Given the description of an element on the screen output the (x, y) to click on. 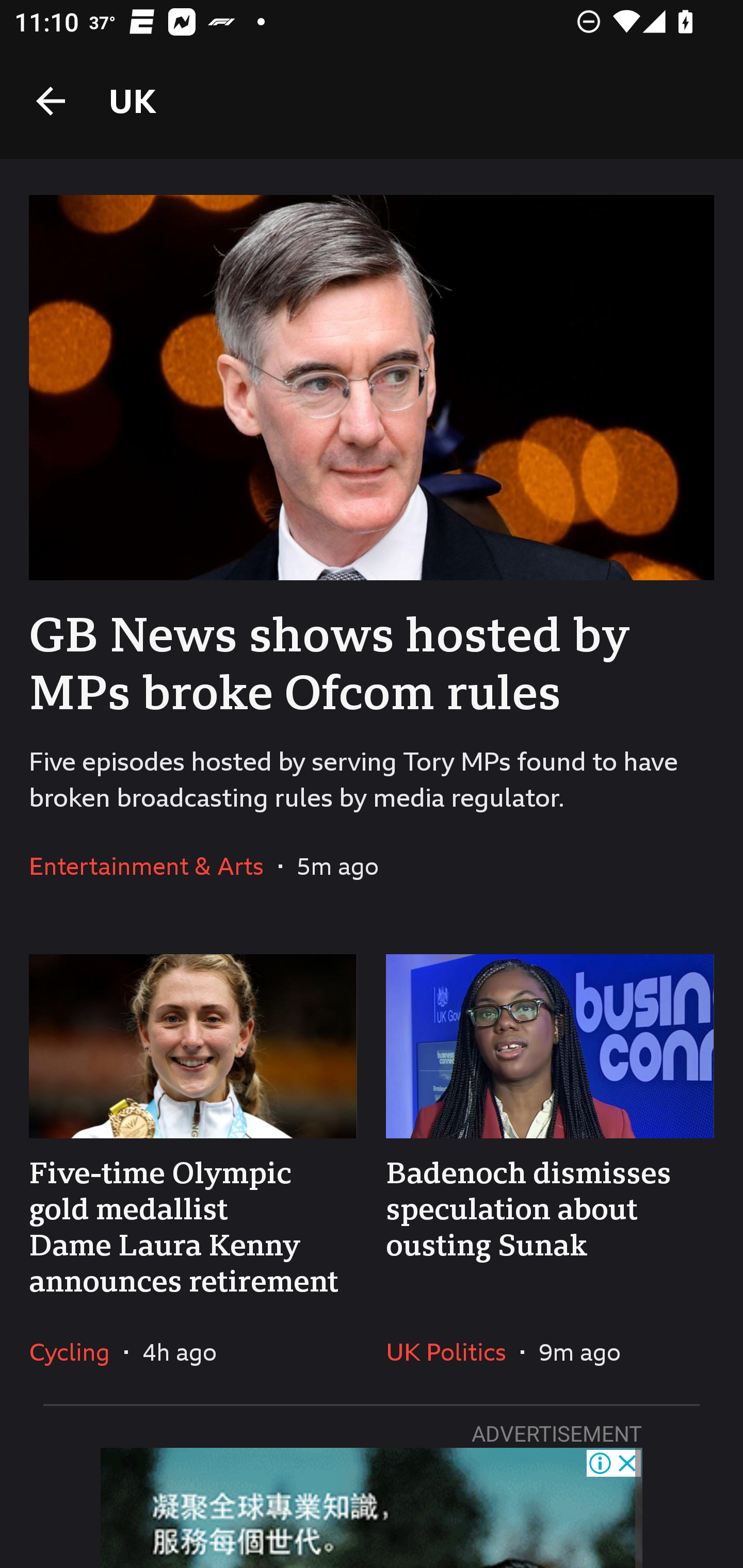
Back (50, 101)
Cycling In the section Cycling (76, 1351)
UK Politics In the section UK Politics (452, 1351)
Advertisement (371, 1507)
Advertisement (371, 1507)
